Given the description of an element on the screen output the (x, y) to click on. 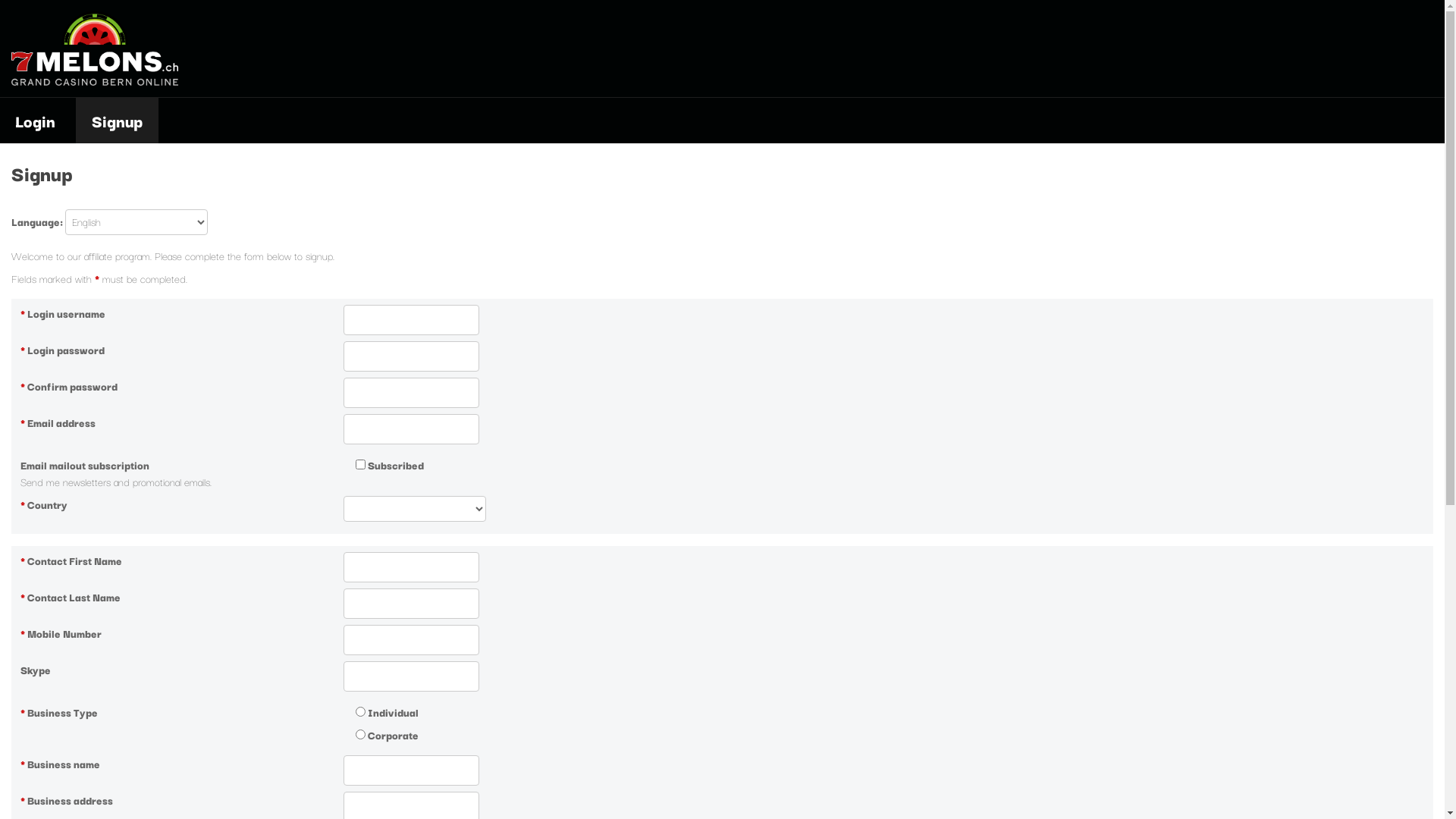
Signup Element type: text (116, 120)
Home Element type: hover (94, 80)
Login Element type: text (37, 120)
